Given the description of an element on the screen output the (x, y) to click on. 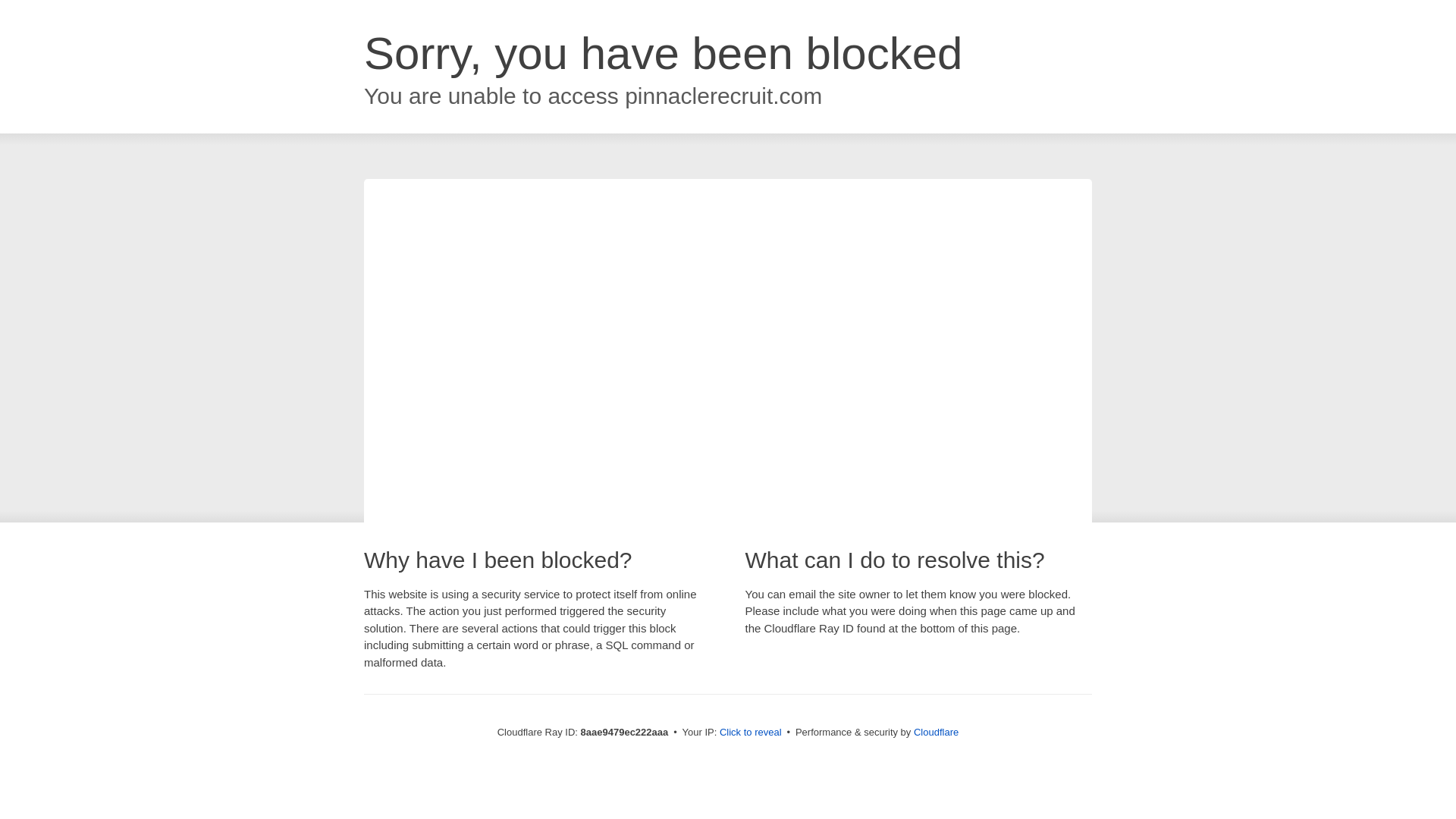
Cloudflare (936, 731)
Click to reveal (750, 732)
